Given the description of an element on the screen output the (x, y) to click on. 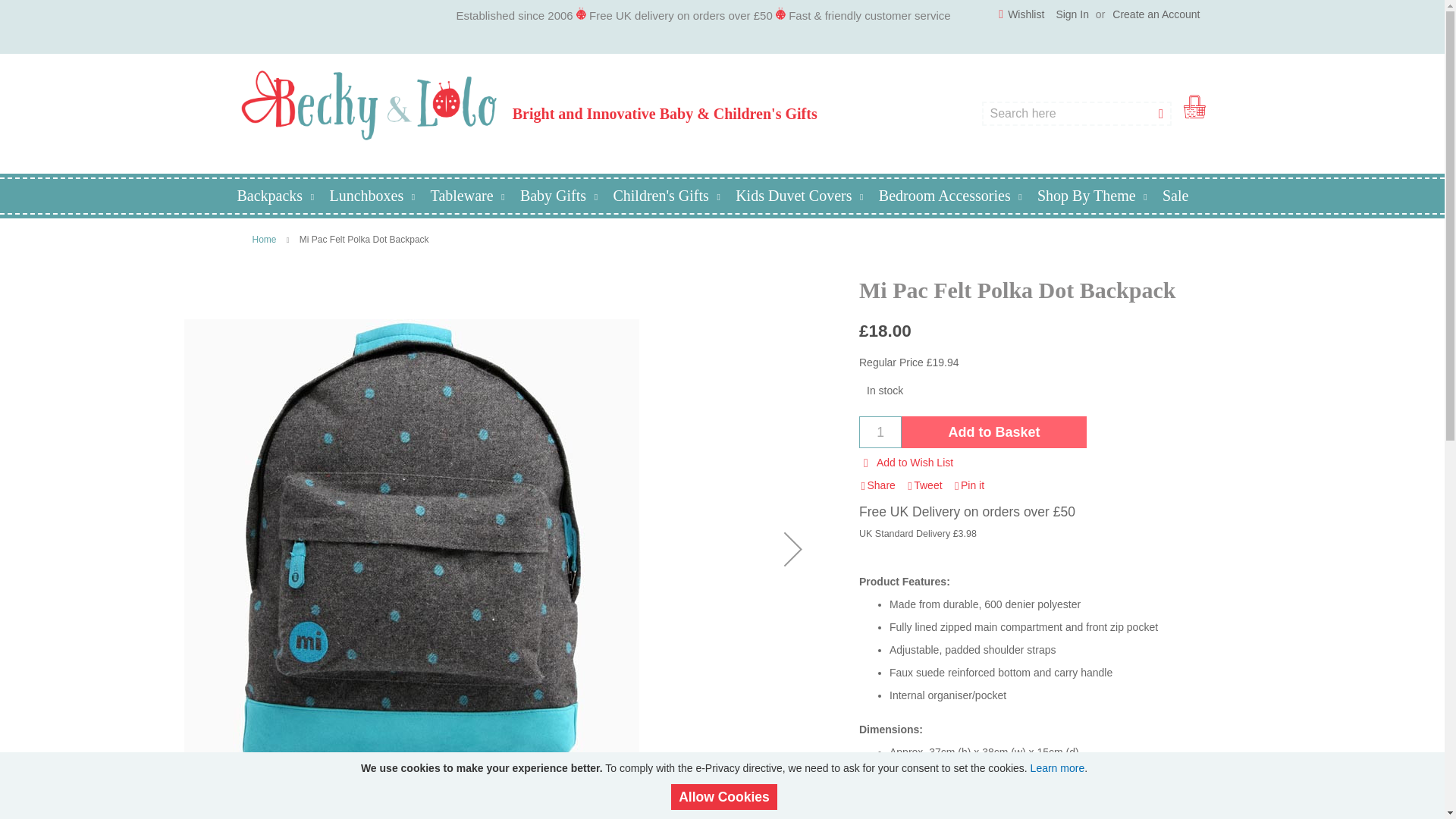
Qty (880, 432)
Sign In (1072, 14)
Lunchboxes (375, 195)
Learn more (1057, 767)
Pin it (968, 486)
Create an Account (1155, 14)
Availability (1151, 391)
Share on facebook (877, 486)
Backpacks (278, 195)
1 (880, 432)
Allow Cookies (724, 796)
Share on Twitter (923, 486)
Tableware (471, 195)
Go to Home Page (263, 239)
Wishlist (1020, 14)
